Given the description of an element on the screen output the (x, y) to click on. 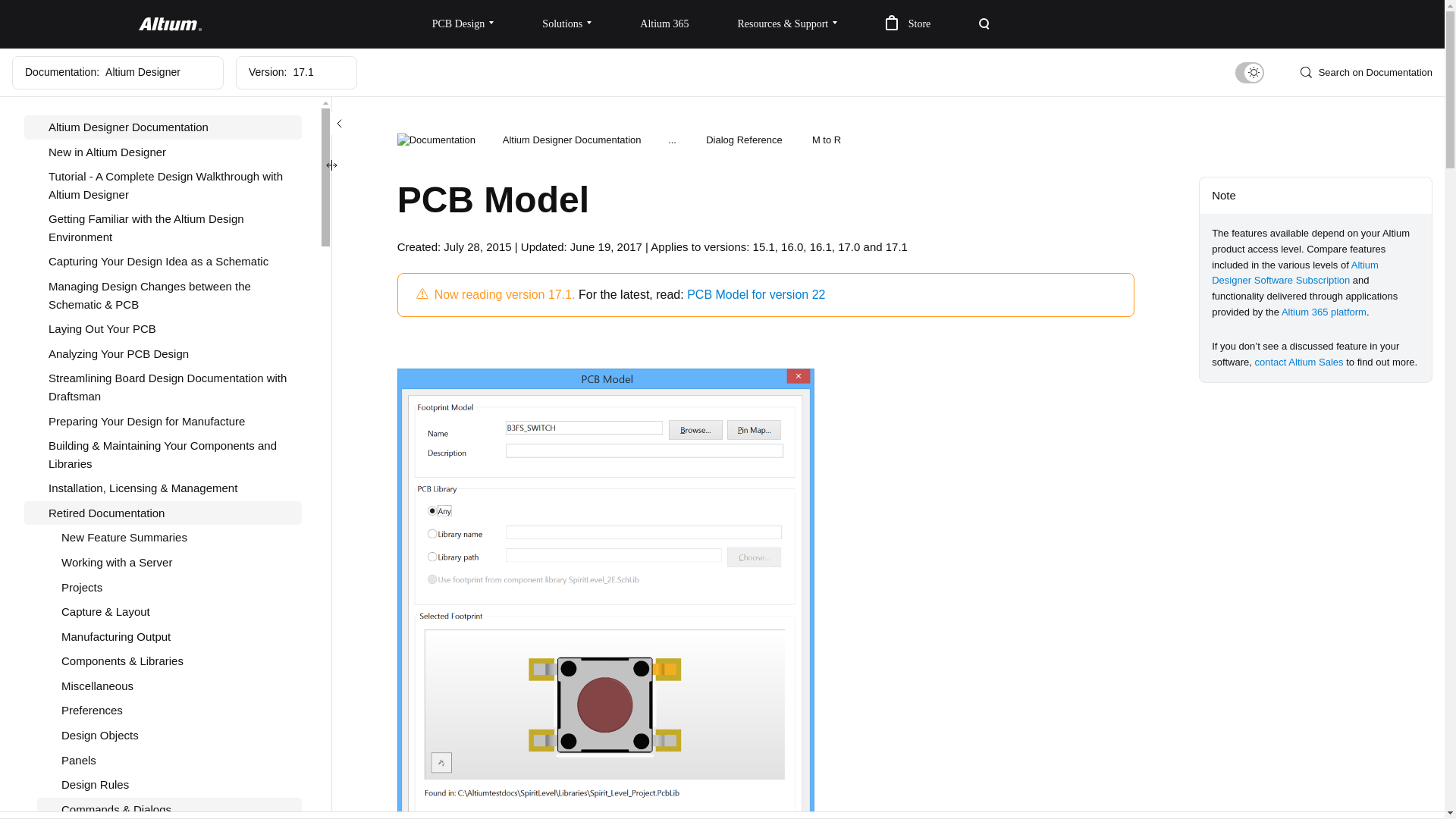
PCB Design (462, 24)
Store (908, 24)
Search Open (984, 24)
Solutions (566, 24)
Altium 365 (664, 24)
